Given the description of an element on the screen output the (x, y) to click on. 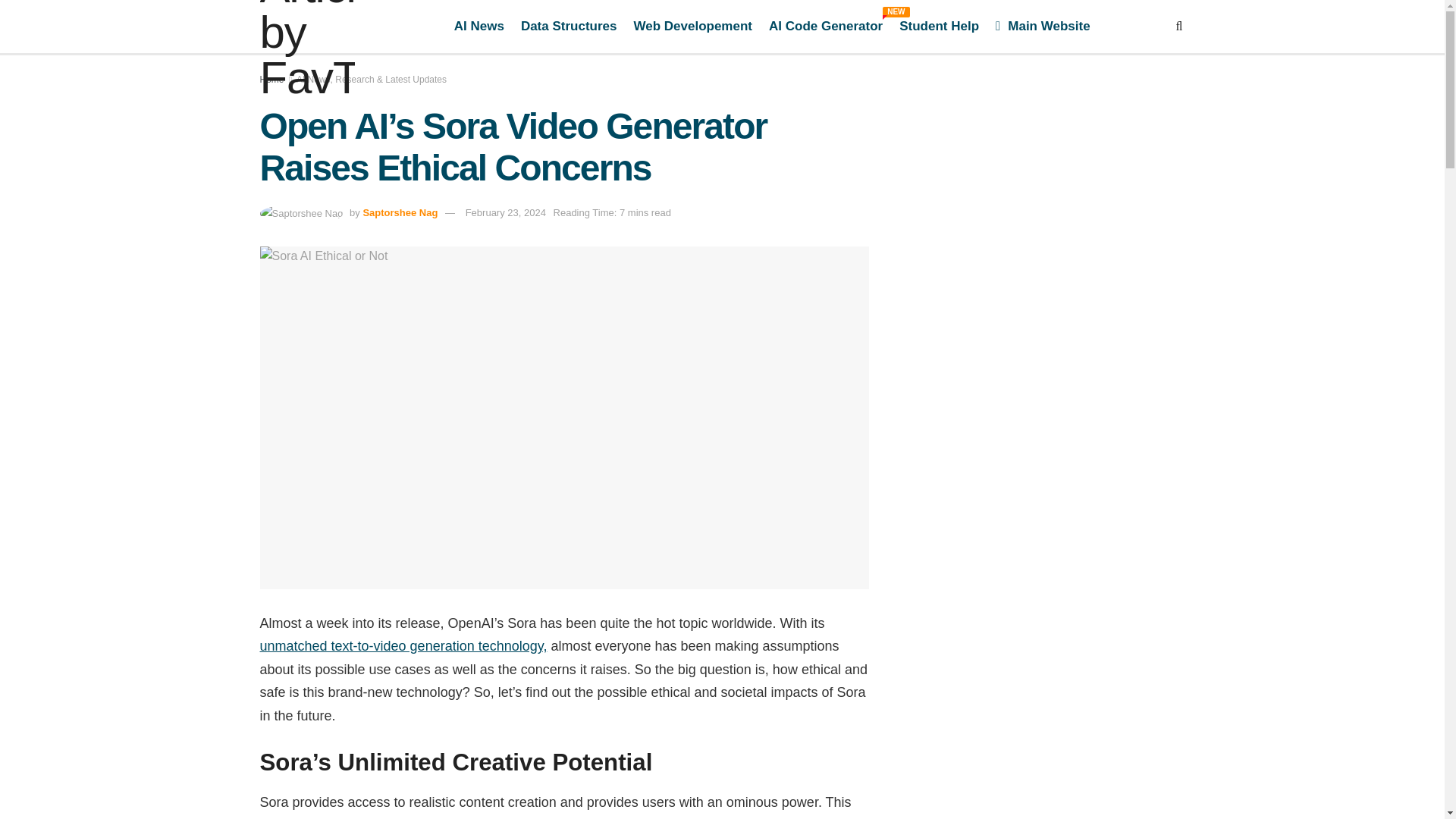
Main Website (1042, 26)
Student Help (938, 26)
February 23, 2024 (505, 212)
Data Structures (825, 26)
Web Developement (569, 26)
Saptorshee Nag (692, 26)
AI News (400, 212)
Home (478, 26)
unmatched text-to-video generation technology, (271, 79)
